Given the description of an element on the screen output the (x, y) to click on. 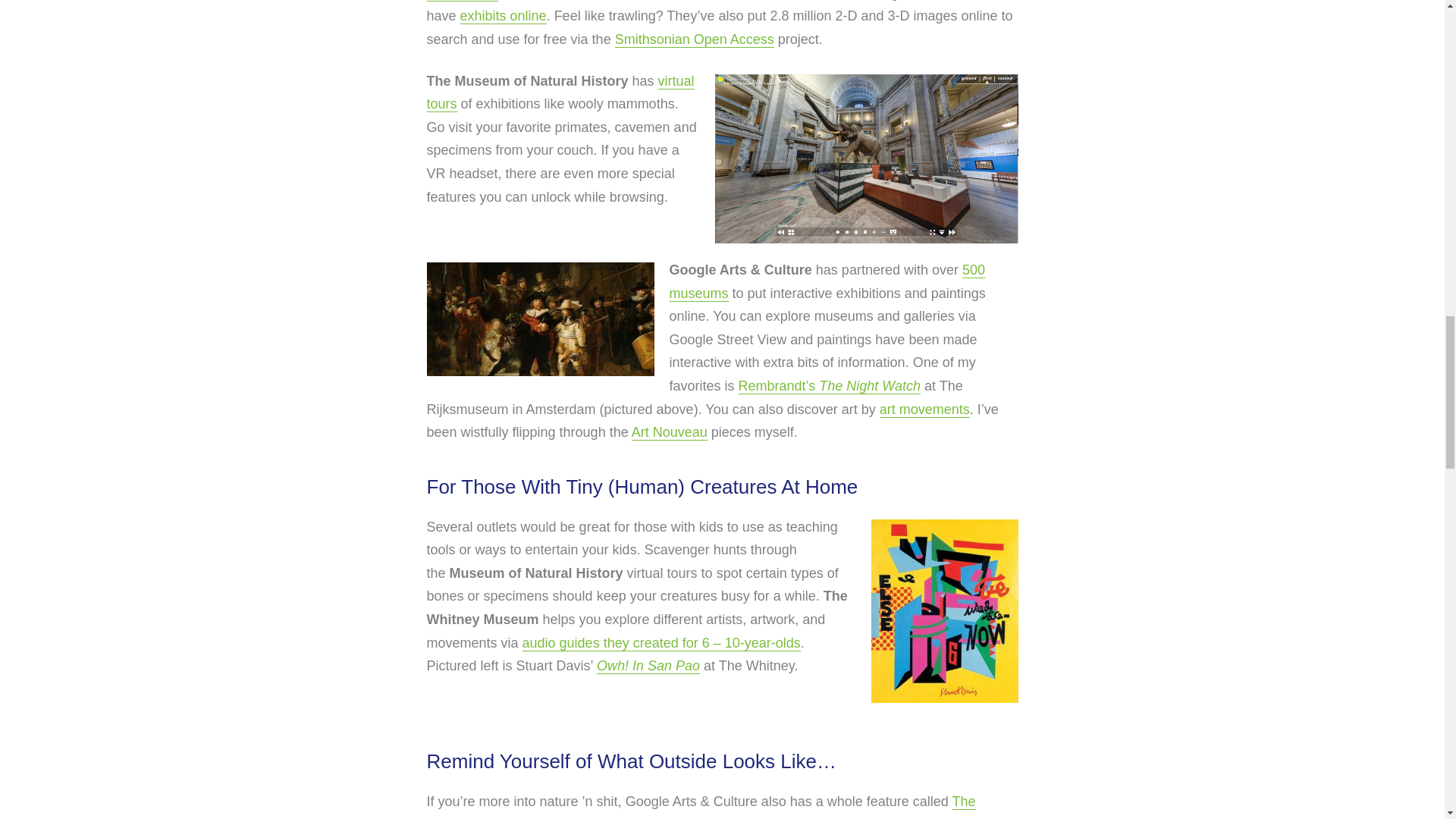
Roam around The Museum of Natural History's virtual tours  (560, 93)
500 museums (826, 282)
The Smithsonian Open Access Project (694, 39)
exhibits online (503, 16)
Online exhibitions at The Smithsonian  (503, 16)
virtual tours (560, 93)
Owh! In San Pao (648, 666)
Dive into Rembrandt's "The Night Watch" at the Rijksmuseum (829, 385)
